Given the description of an element on the screen output the (x, y) to click on. 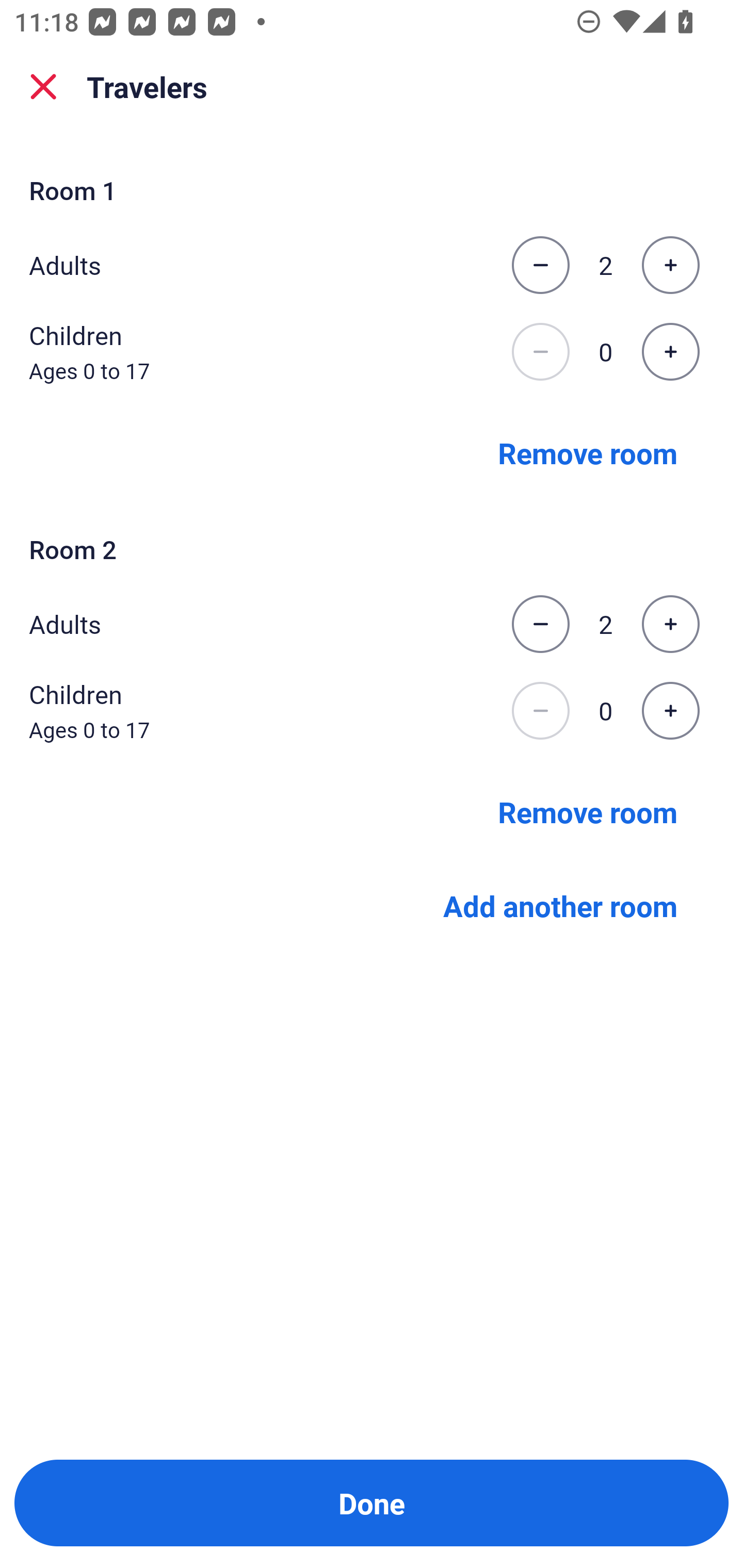
close (43, 86)
Decrease the number of adults (540, 264)
Increase the number of adults (670, 264)
Decrease the number of children (540, 351)
Increase the number of children (670, 351)
Remove room (588, 452)
Decrease the number of adults (540, 623)
Increase the number of adults (670, 623)
Decrease the number of children (540, 710)
Increase the number of children (670, 710)
Remove room (588, 811)
Add another room (560, 905)
Done (371, 1502)
